Given the description of an element on the screen output the (x, y) to click on. 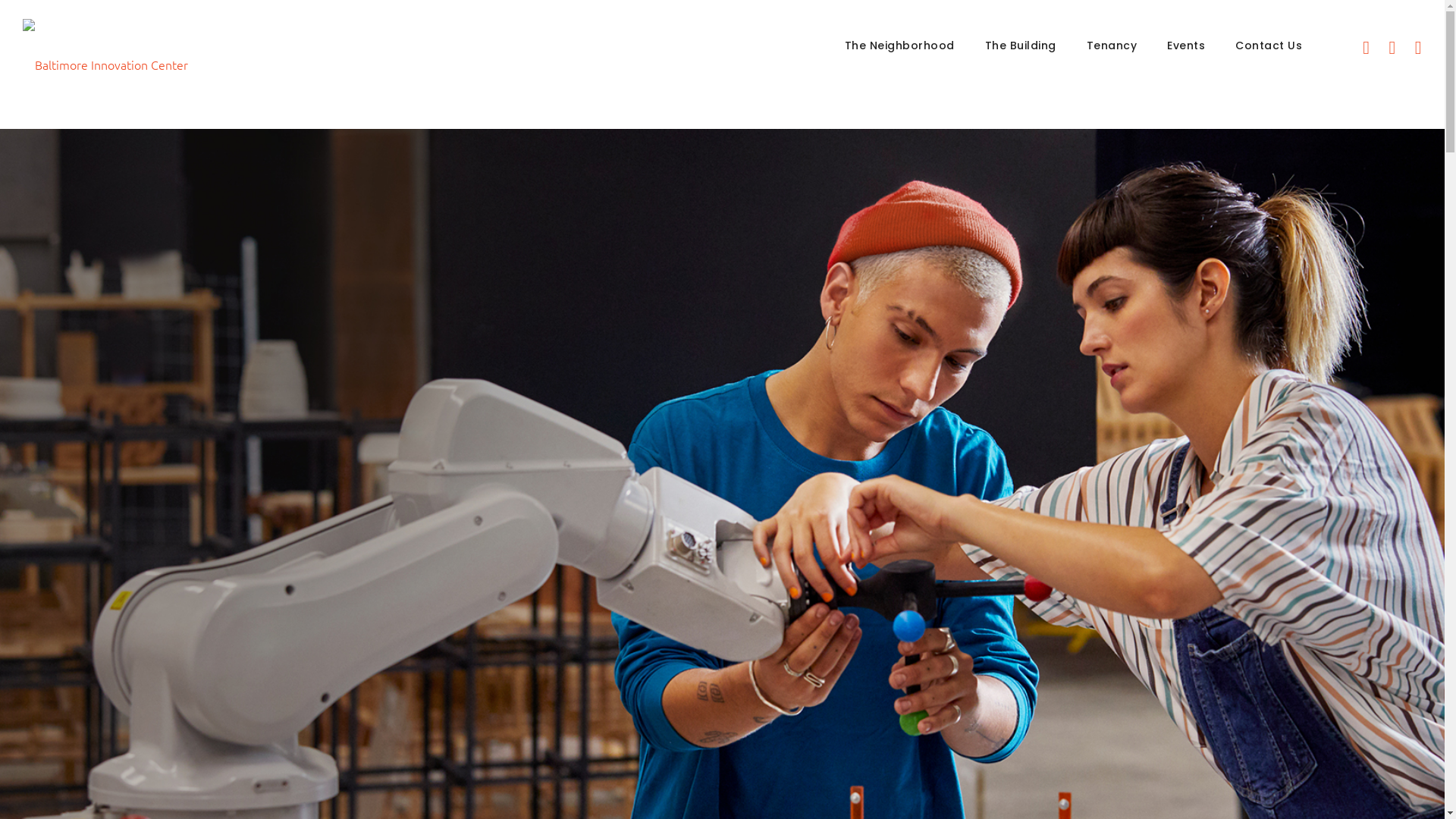
Events Element type: text (1185, 45)
Tenancy Element type: text (1111, 45)
The Neighborhood Element type: text (899, 45)
Contact Us Element type: text (1268, 45)
The Building Element type: text (1020, 45)
